Given the description of an element on the screen output the (x, y) to click on. 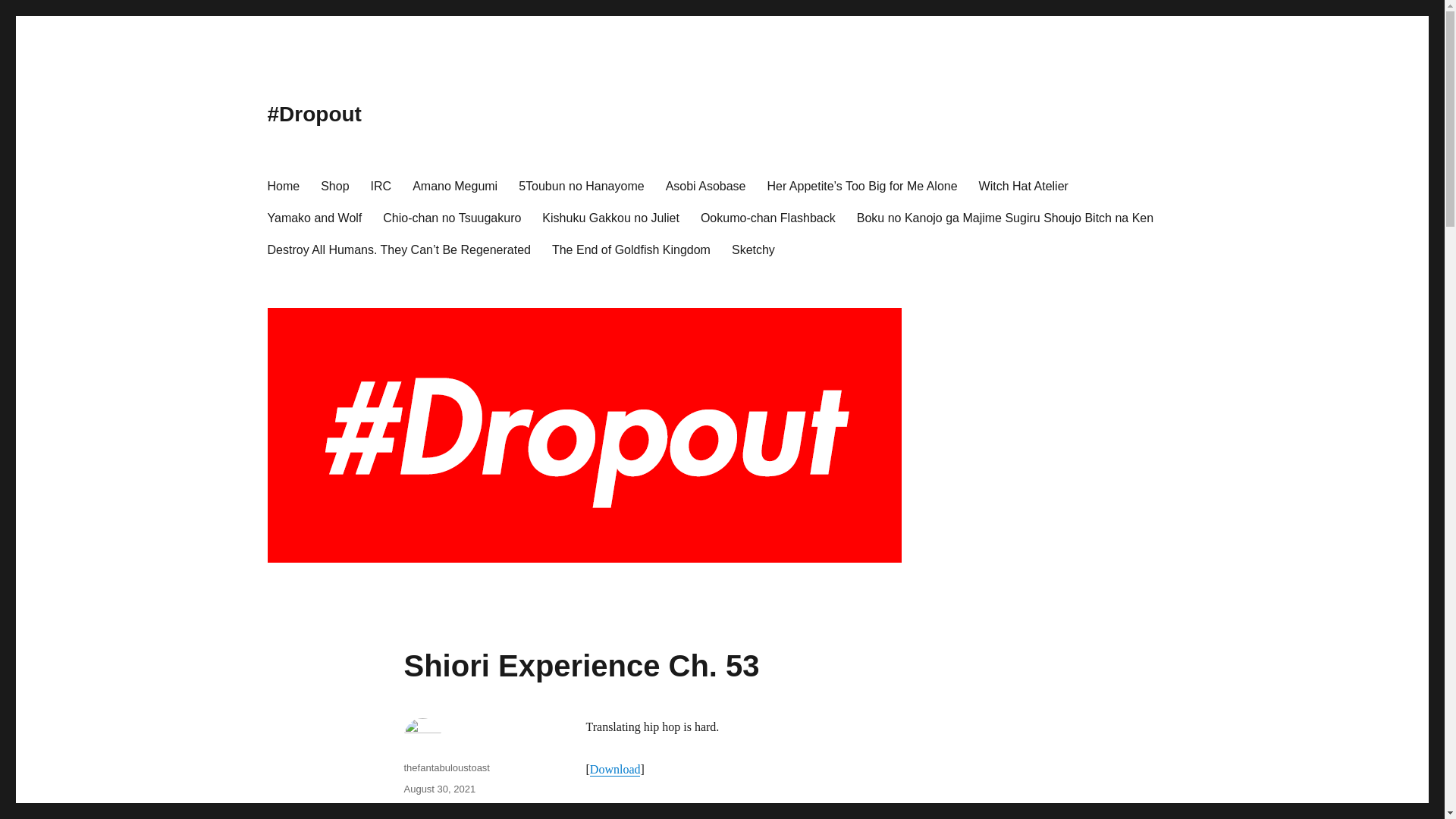
Ookumo-chan Flashback (767, 217)
thefantabuloustoast (446, 767)
Download (614, 768)
5Toubun no Hanayome (580, 185)
Amano Megumi (454, 185)
Kishuku Gakkou no Juliet (610, 217)
Boku no Kanojo ga Majime Sugiru Shoujo Bitch na Ken (1004, 217)
Home (283, 185)
IRC (381, 185)
The End of Goldfish Kingdom (630, 249)
